Given the description of an element on the screen output the (x, y) to click on. 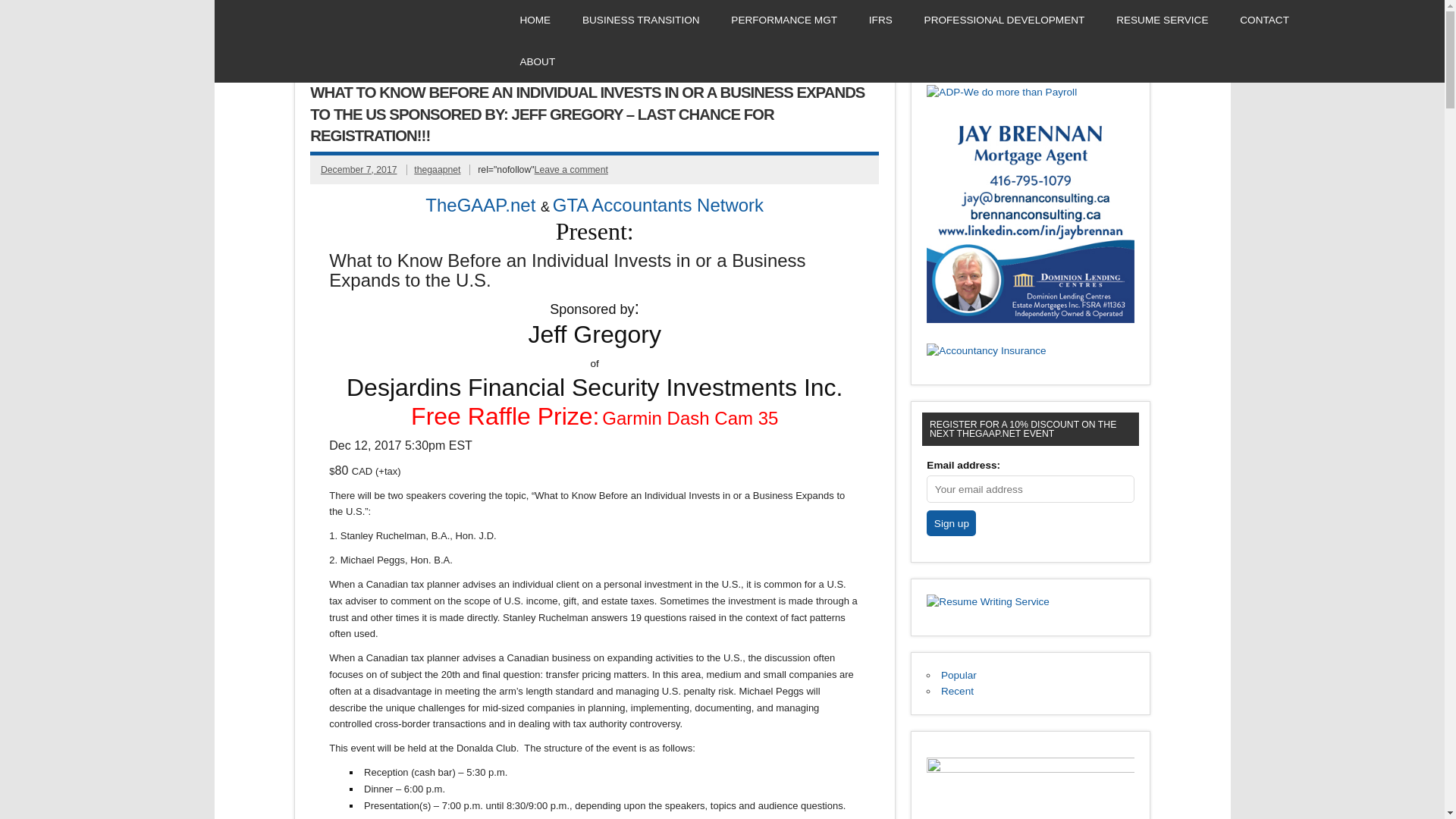
TheGAAP.net (480, 204)
thegaapnet (436, 169)
Sign up (950, 523)
Recent (957, 690)
Jay Brennan-Mortgage Agent (1030, 319)
Popular (958, 674)
December 7, 2017 (358, 169)
IFRS (880, 20)
PROFESSIONAL DEVELOPMENT (1004, 20)
RESUME SERVICE (1162, 20)
BUSINESS TRANSITION (640, 20)
7:08 pm (358, 169)
HOME (534, 20)
ADP-Always Designing For People (1001, 91)
ABOUT (536, 60)
